Given the description of an element on the screen output the (x, y) to click on. 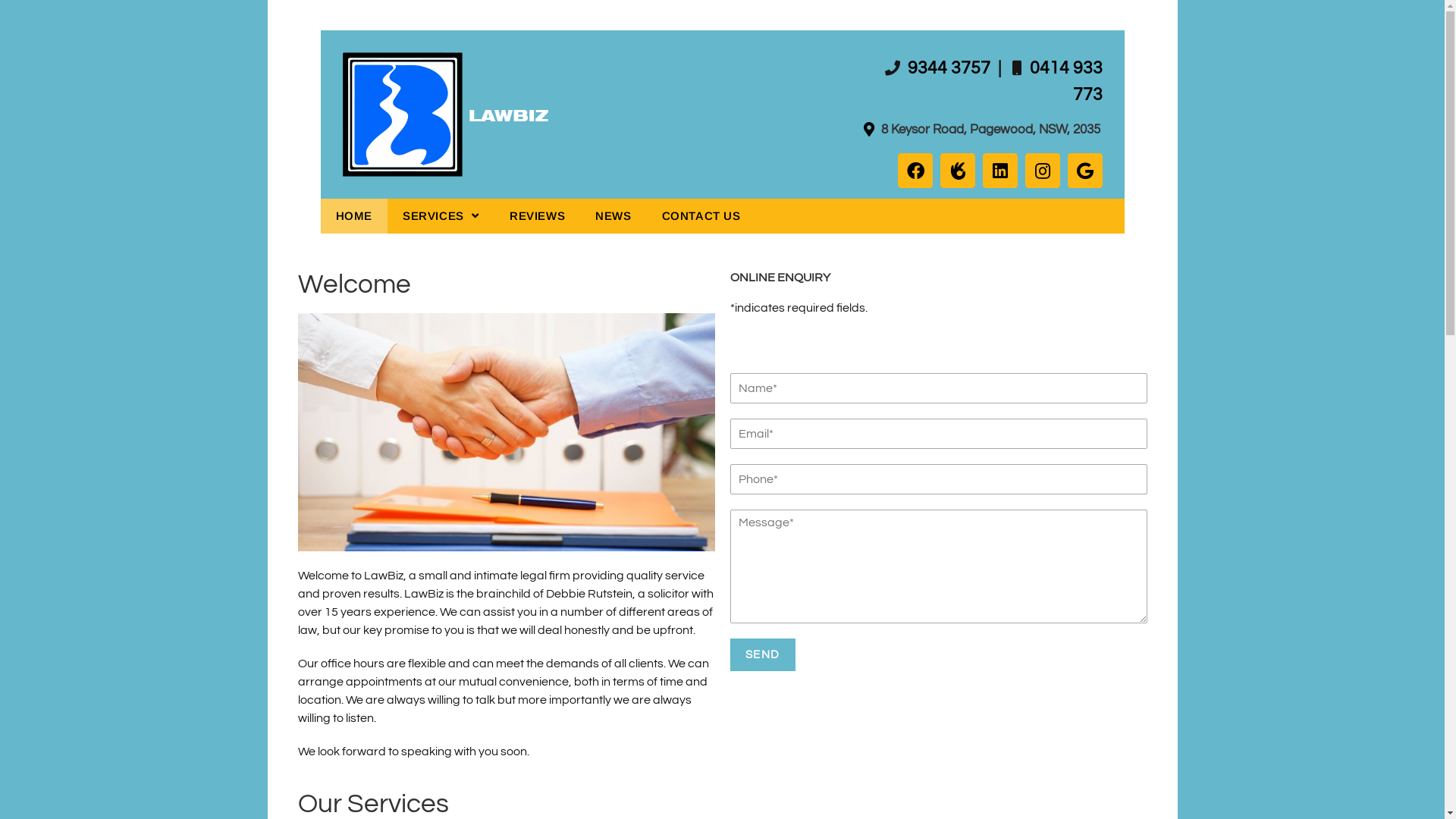
SEND Element type: text (761, 654)
SERVICES Element type: text (440, 215)
 0414 933 773 Element type: text (1064, 81)
NEWS Element type: text (613, 215)
 9344 3757 Element type: text (946, 68)
CONTACT US Element type: text (701, 215)
HOME Element type: text (353, 215)
8 Keysor Road, Pagewood, NSW, 2035 Element type: text (990, 129)
REVIEWS Element type: text (537, 215)
